Given the description of an element on the screen output the (x, y) to click on. 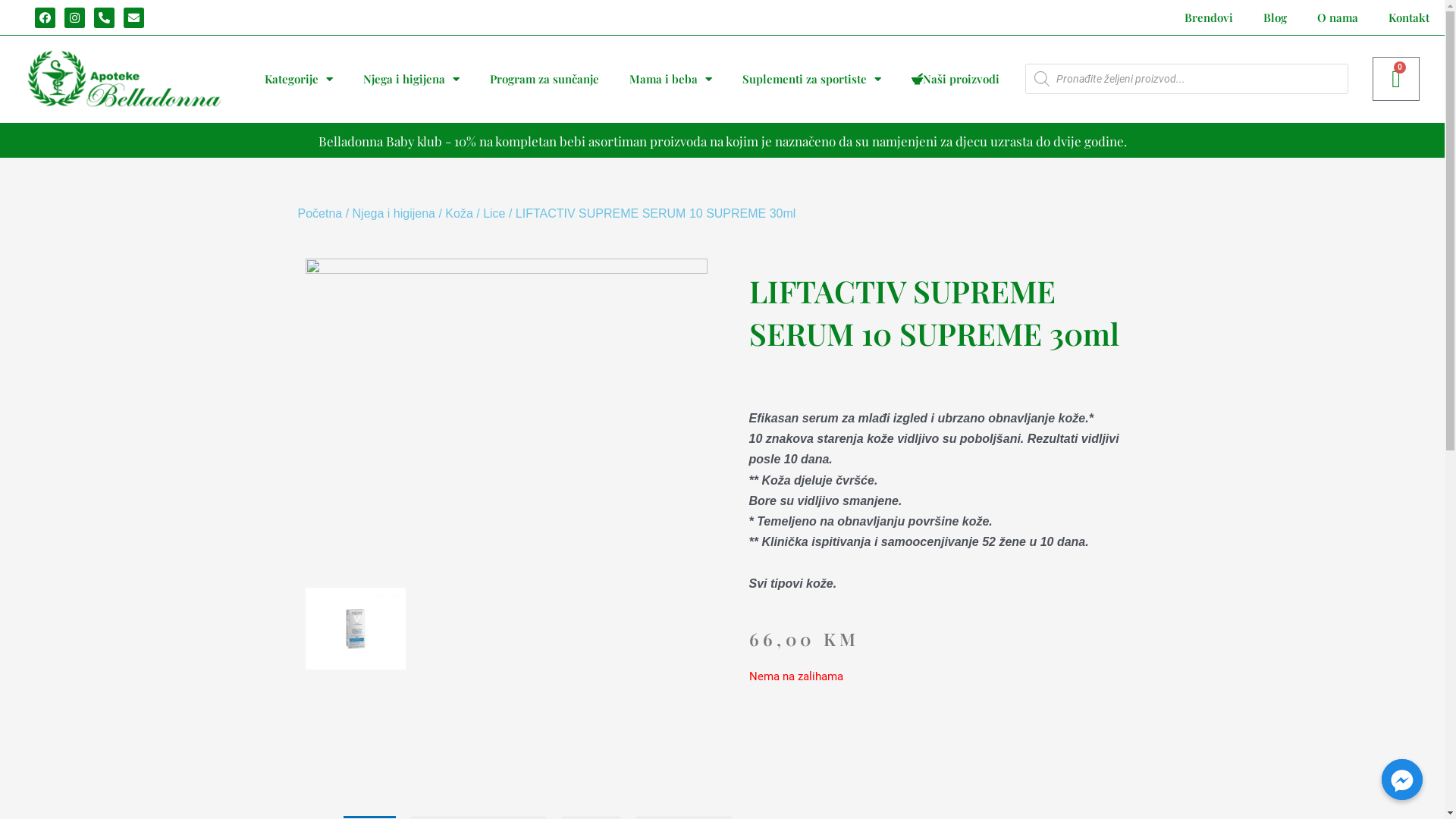
Lice Element type: text (494, 213)
0
Cart Element type: text (1395, 78)
SUPREME SERUM 1 Element type: hover (505, 422)
O nama Element type: text (1337, 17)
Blog Element type: text (1275, 17)
Mama i beba Element type: text (670, 78)
Kontakt Element type: text (1408, 17)
Suplementi za sportiste Element type: text (811, 78)
Njega i higijena Element type: text (411, 78)
Njega i higijena Element type: text (393, 213)
Envelope Element type: text (133, 17)
SUPREME SERUM 2 Element type: hover (354, 628)
Brendovi Element type: text (1208, 17)
Kategorije Element type: text (298, 78)
Instagram Element type: text (74, 17)
Phone-alt Element type: text (104, 17)
Facebook Element type: text (44, 17)
